Given the description of an element on the screen output the (x, y) to click on. 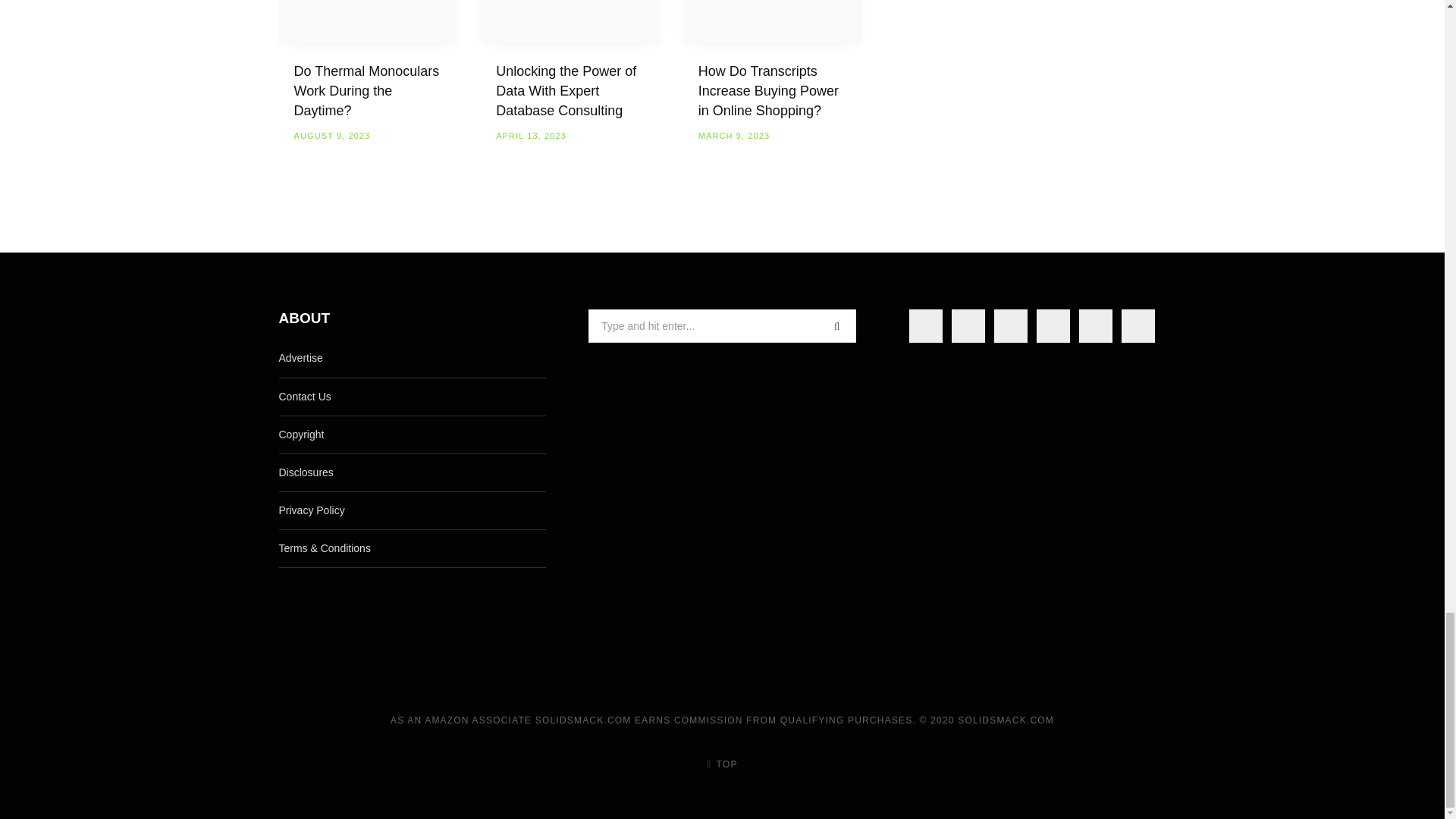
Do Thermal Monoculars Work During the Daytime? (366, 90)
Do Thermal Monoculars Work During the Daytime? (368, 21)
How Do Transcripts Increase Buying Power in Online Shopping? (772, 21)
Search for: (722, 326)
Unlocking the Power of Data With Expert Database Consulting (570, 21)
